Given the description of an element on the screen output the (x, y) to click on. 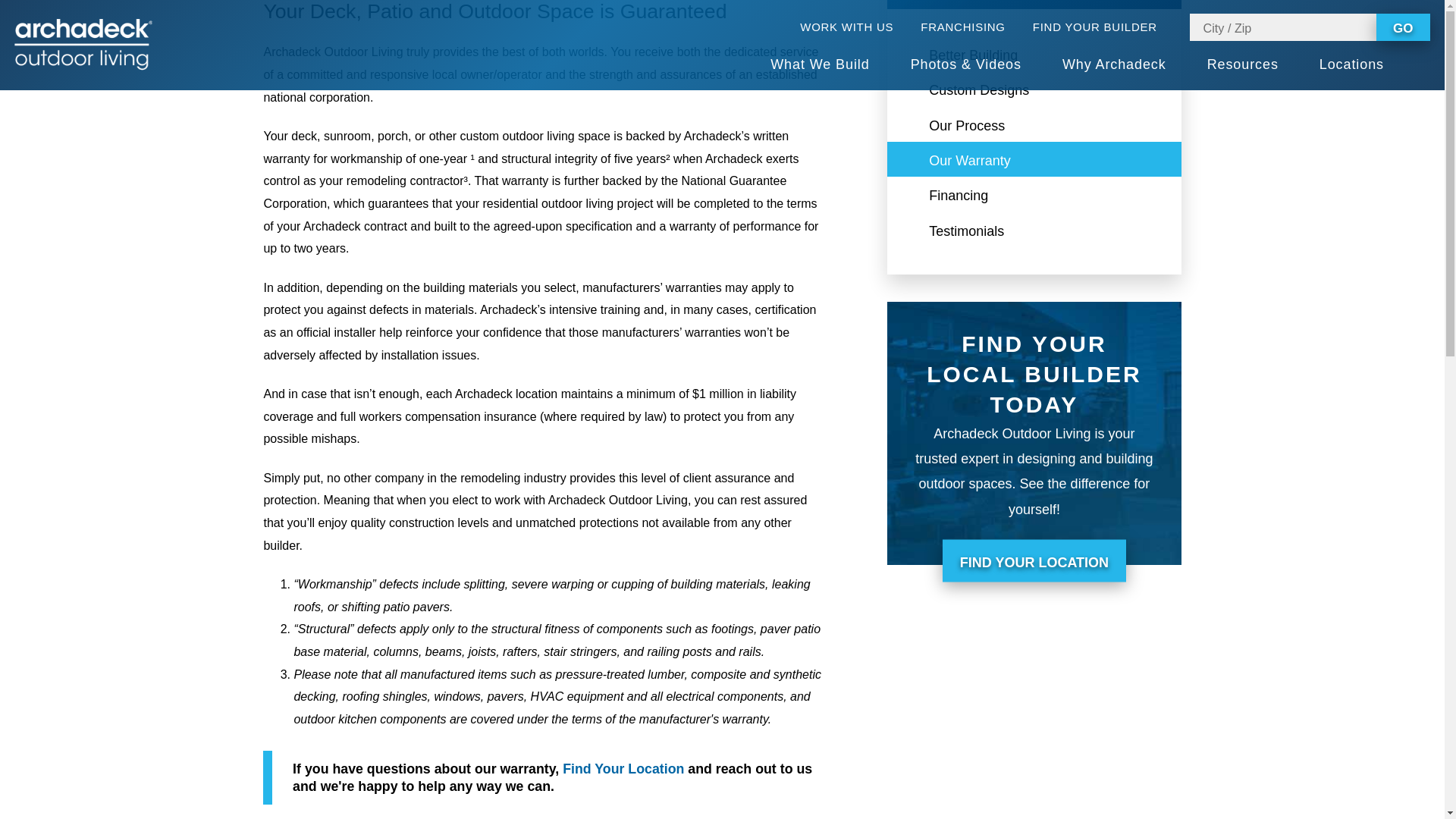
GO (1402, 26)
Why Archadeck (1114, 65)
Resources (1242, 65)
FRANCHISING (962, 26)
WORK WITH US (846, 26)
What We Build (819, 65)
FIND YOUR BUILDER (1104, 26)
Archadeck (83, 44)
